Given the description of an element on the screen output the (x, y) to click on. 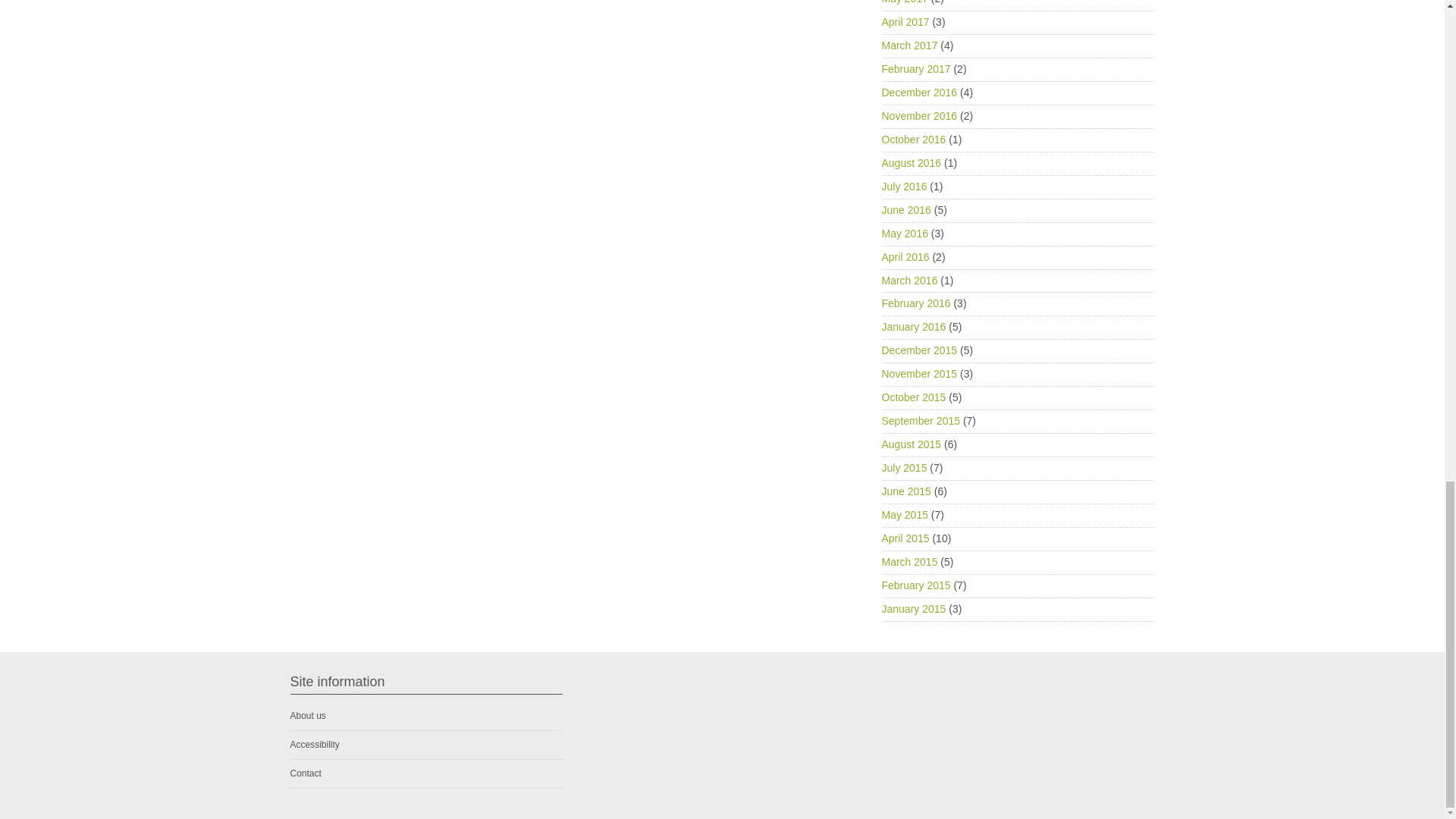
Accessibility (314, 744)
Contact (304, 773)
About us (306, 715)
